Given the description of an element on the screen output the (x, y) to click on. 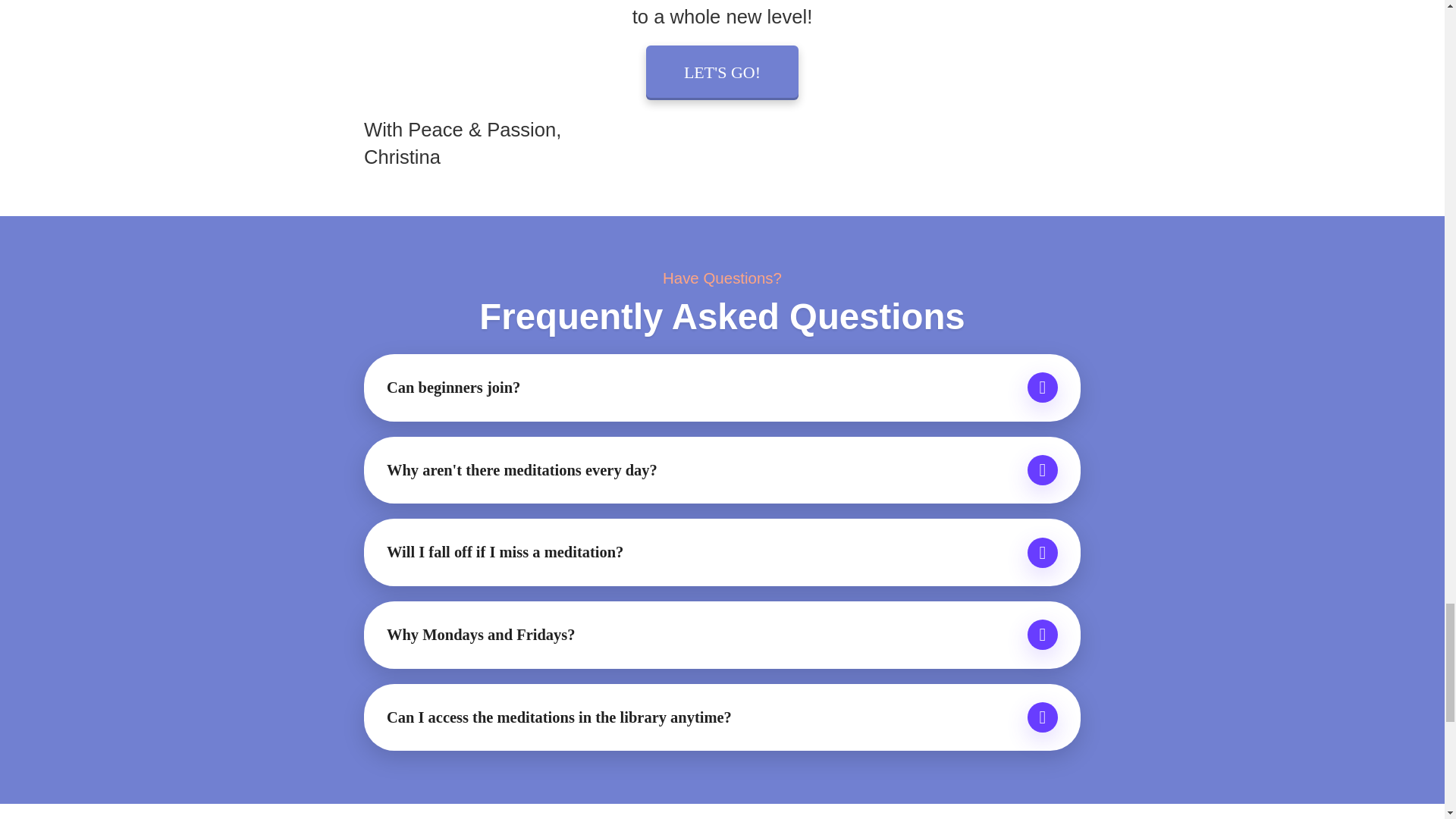
LET'S GO! (721, 72)
